Given the description of an element on the screen output the (x, y) to click on. 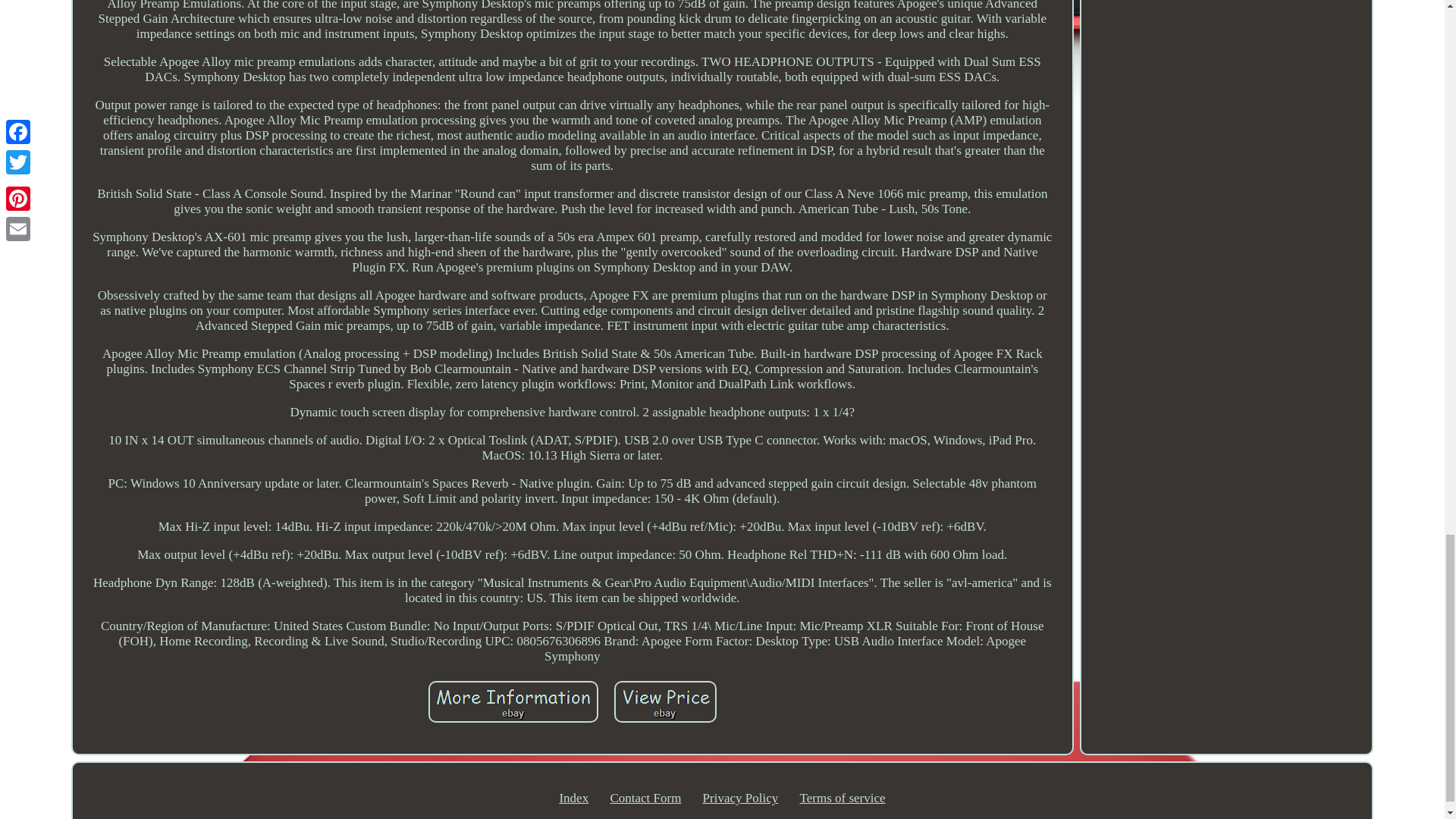
Apogee Symphony Desktop 10x14 USB-C Audio Interface (513, 701)
Apogee Symphony Desktop 10x14 USB-C Audio Interface (665, 701)
